Given the description of an element on the screen output the (x, y) to click on. 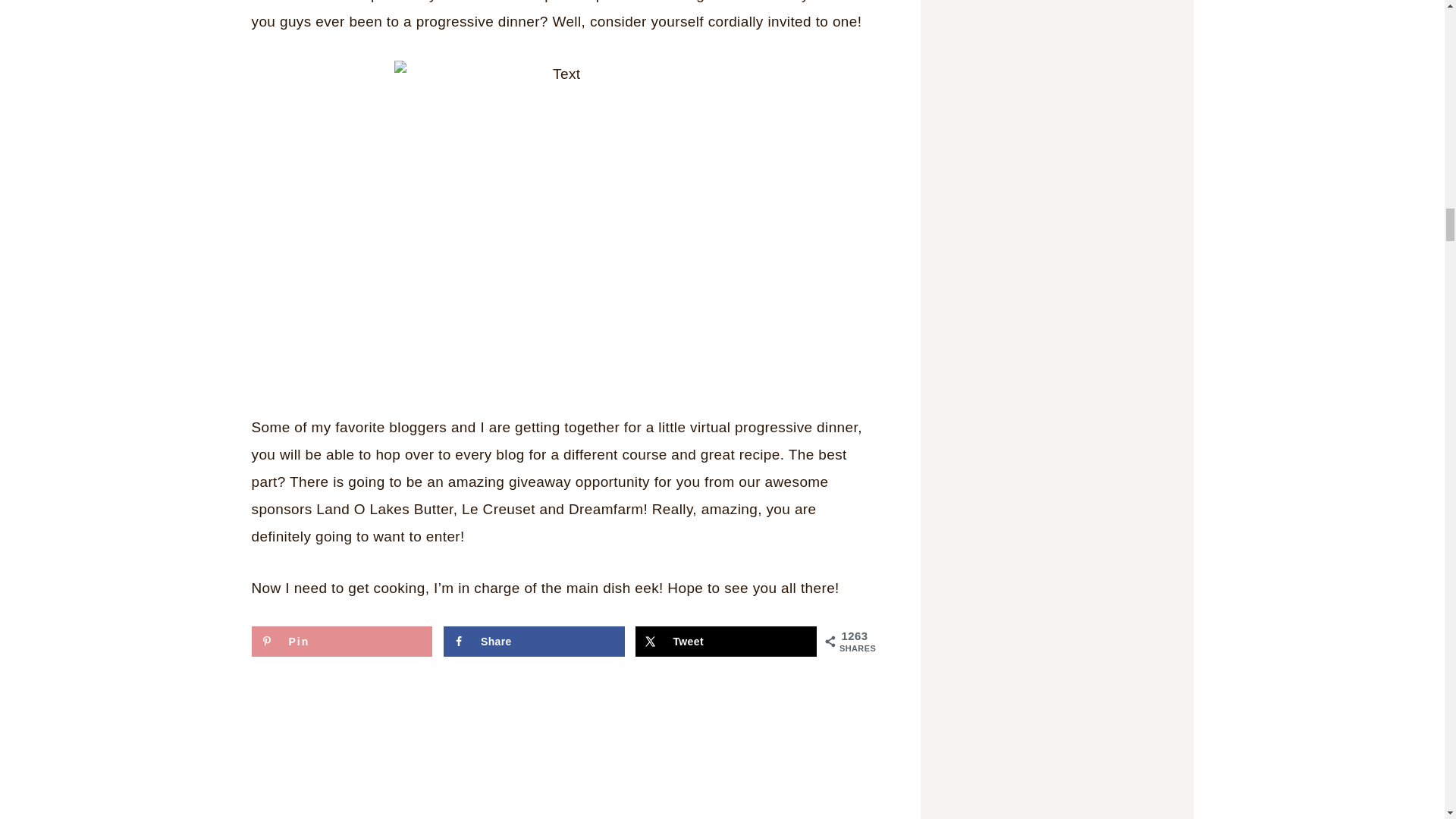
Pin (341, 641)
Share on Facebook (534, 641)
Share on X (725, 641)
Save to Pinterest (341, 641)
Tweet (725, 641)
Share (534, 641)
